Given the description of an element on the screen output the (x, y) to click on. 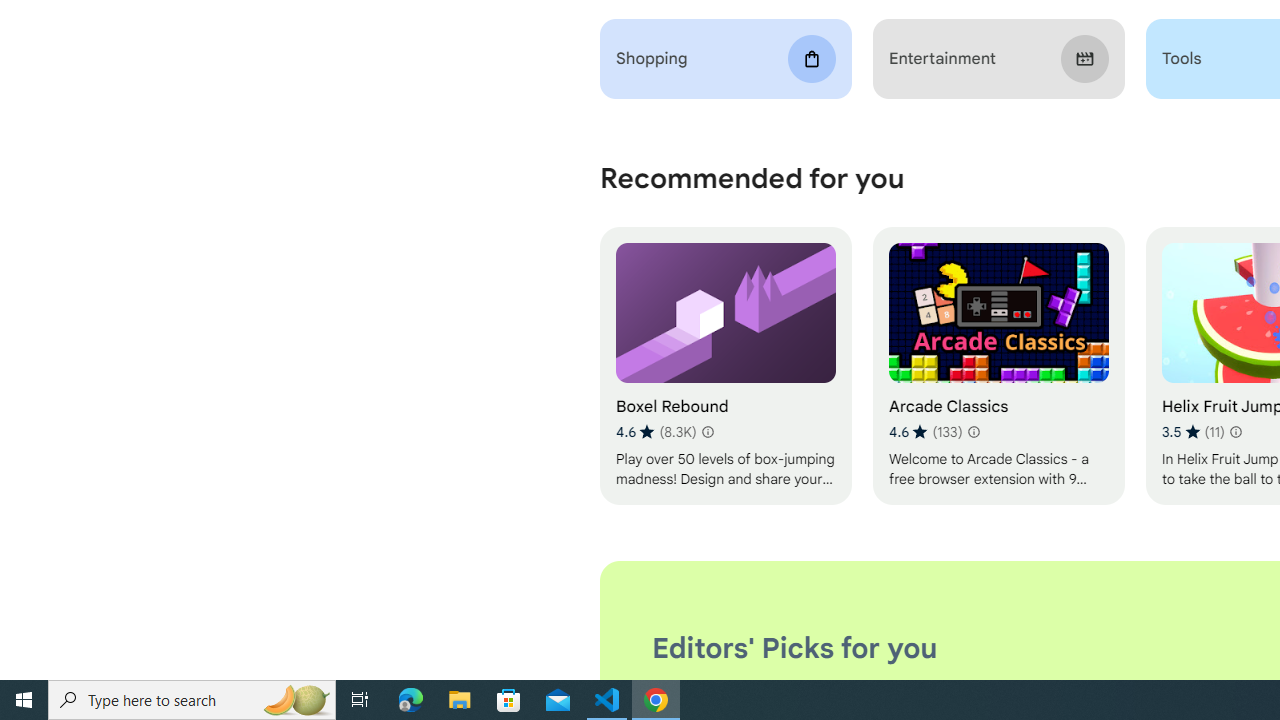
Learn more about results and reviews "Boxel Rebound" (707, 431)
Search highlights icon opens search home window (295, 699)
Average rating 3.5 out of 5 stars. 11 ratings. (1192, 431)
Shopping (725, 59)
Average rating 4.6 out of 5 stars. 133 ratings. (925, 431)
Type here to search (191, 699)
Task View (359, 699)
Visual Studio Code - 1 running window (607, 699)
Entertainment (998, 59)
Learn more about results and reviews "Arcade Classics" (972, 431)
Microsoft Store (509, 699)
Google Chrome - 1 running window (656, 699)
Average rating 4.6 out of 5 stars. 8.3K ratings. (655, 431)
Arcade Classics (998, 366)
